Given the description of an element on the screen output the (x, y) to click on. 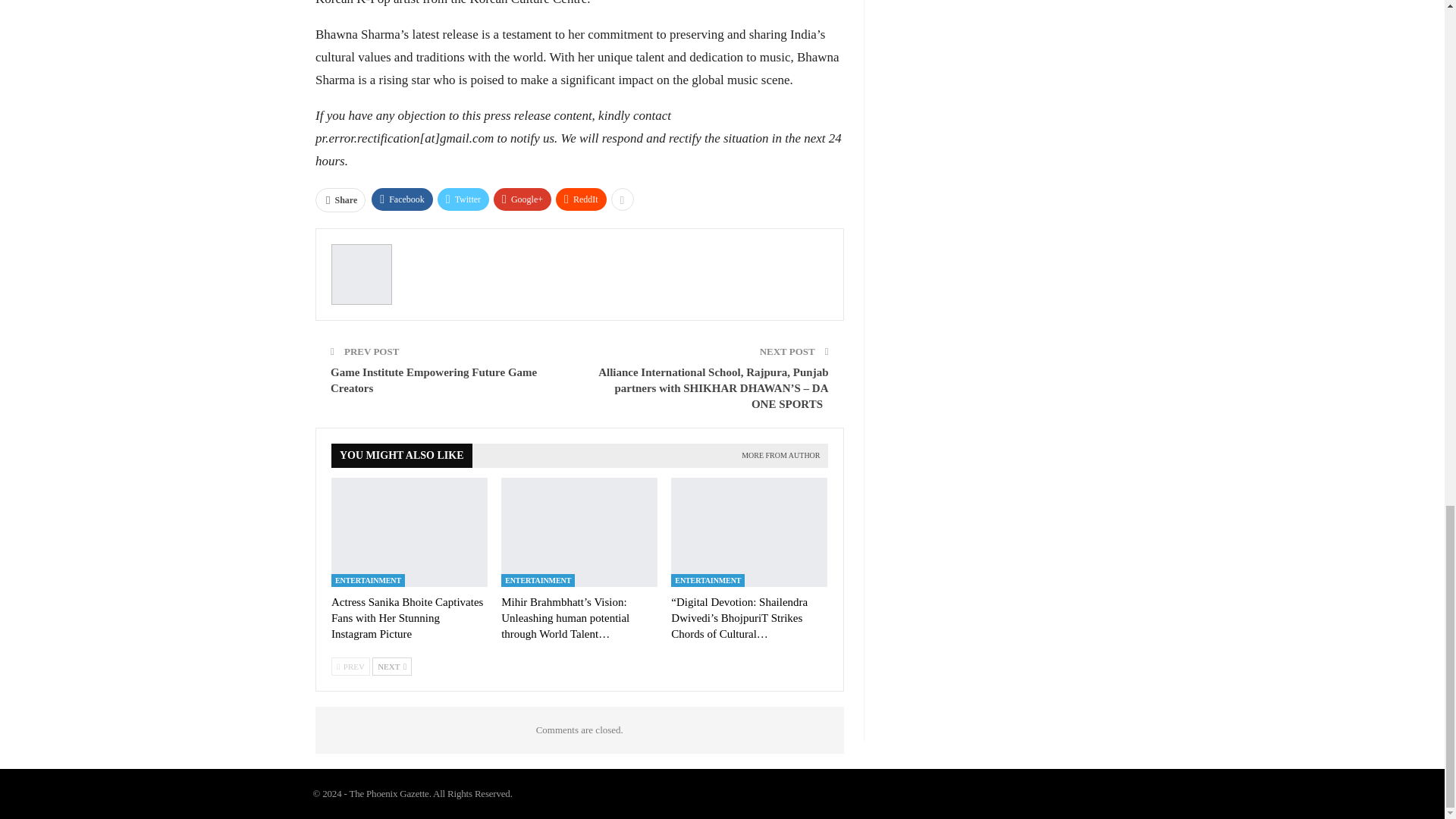
Facebook (401, 199)
Next (392, 666)
ReddIt (581, 199)
Game Institute Empowering Future Game Creators (433, 379)
Previous (350, 666)
Twitter (463, 199)
